Given the description of an element on the screen output the (x, y) to click on. 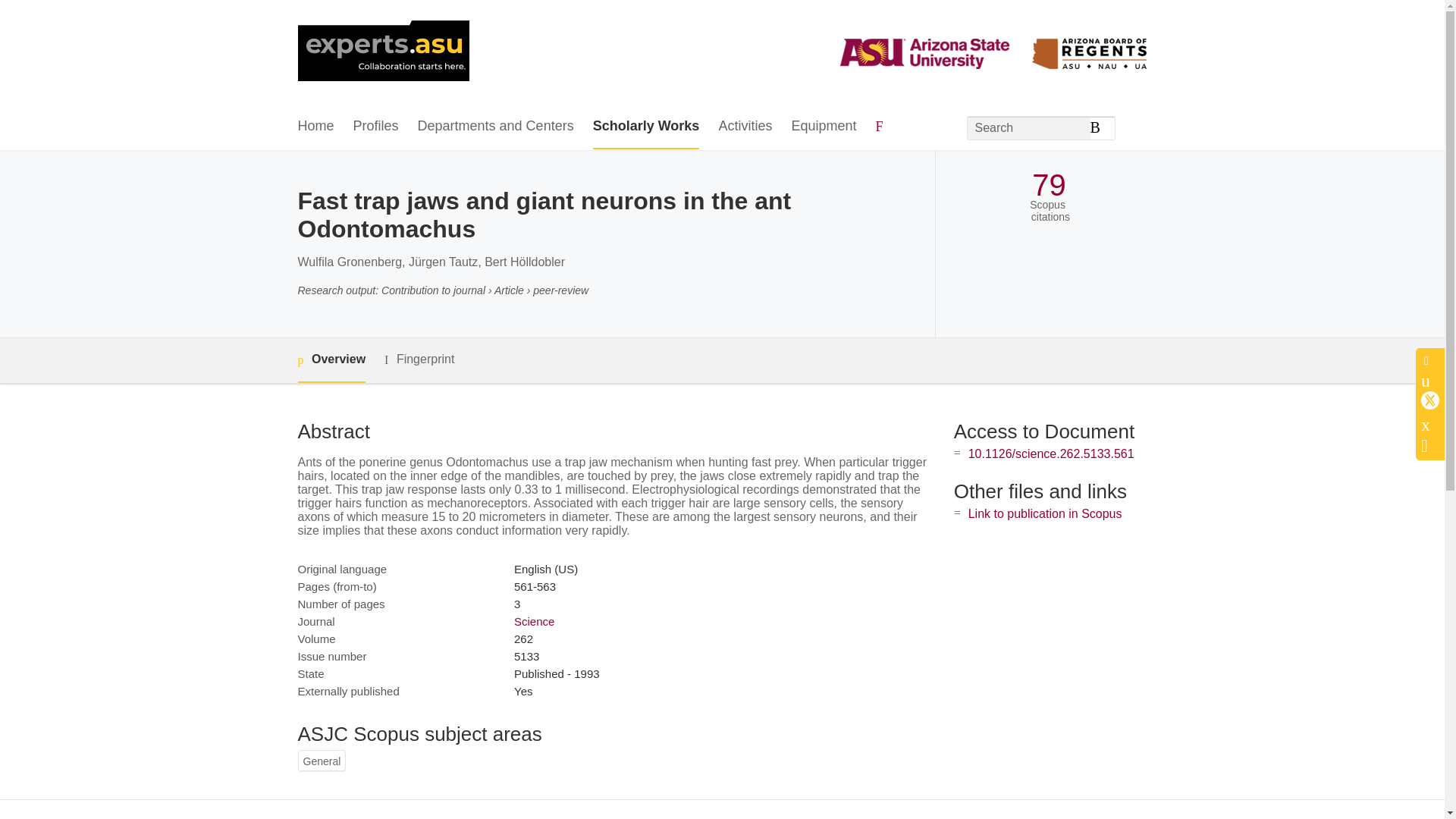
Equipment (823, 126)
Profiles (375, 126)
Science (533, 621)
Scholarly Works (646, 126)
Overview (331, 360)
Activities (744, 126)
Link to publication in Scopus (1045, 513)
Fingerprint (419, 359)
Departments and Centers (495, 126)
79 (1048, 185)
Arizona State University Home (382, 52)
